Given the description of an element on the screen output the (x, y) to click on. 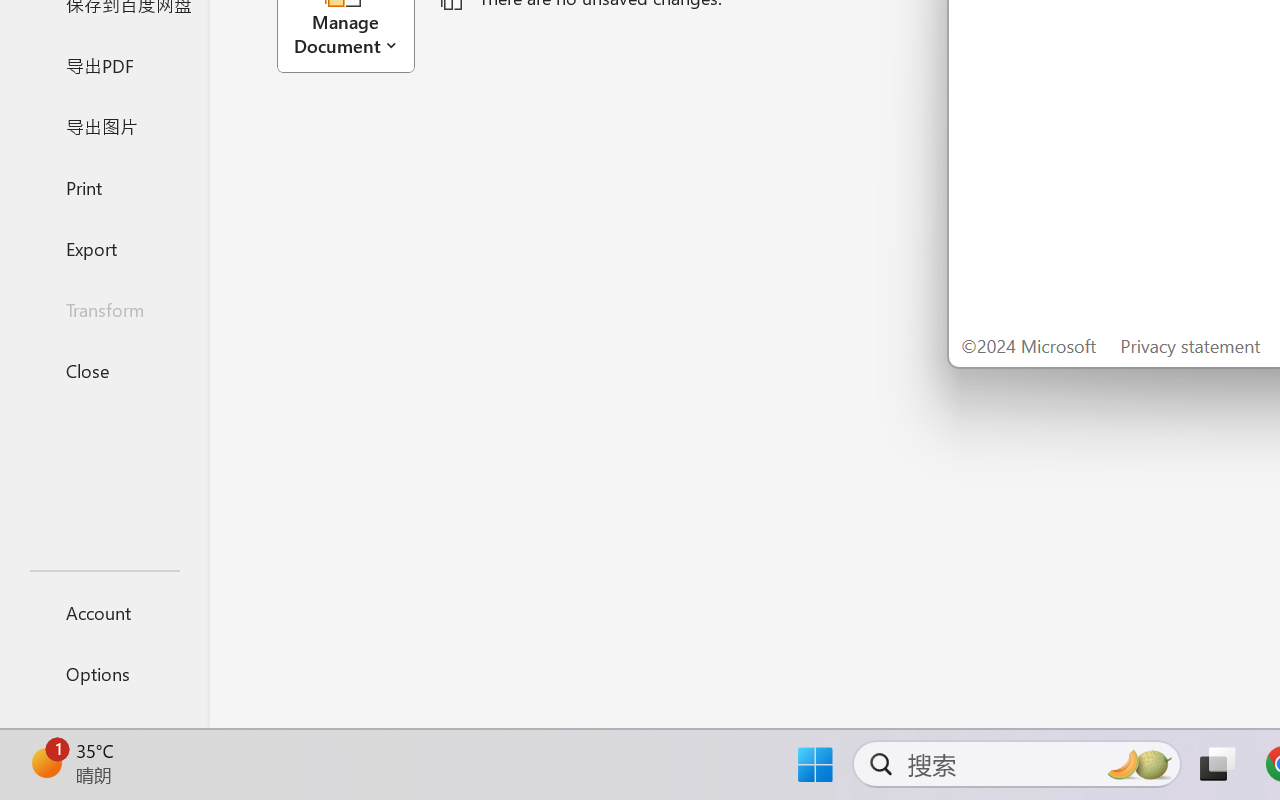
Print (104, 186)
Account (104, 612)
Export (104, 248)
Transform (104, 309)
